Given the description of an element on the screen output the (x, y) to click on. 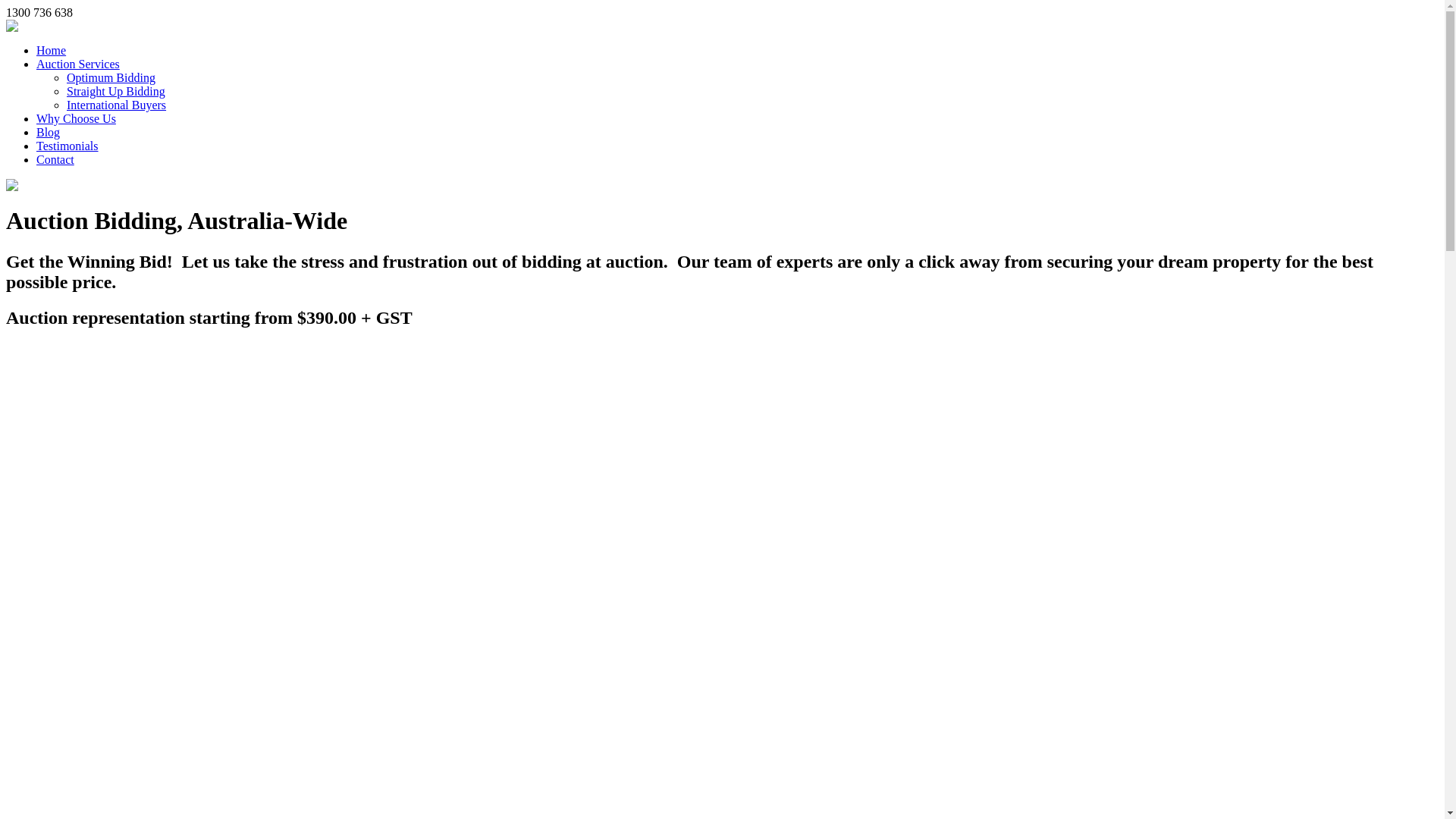
Home Element type: text (50, 49)
International Buyers Element type: text (116, 104)
Why Choose Us Element type: text (76, 118)
Straight Up Bidding Element type: text (115, 90)
Auction Services Element type: text (77, 63)
Blog Element type: text (47, 131)
Optimum Bidding Element type: text (110, 77)
Testimonials Element type: text (67, 145)
Contact Element type: text (55, 159)
